Given the description of an element on the screen output the (x, y) to click on. 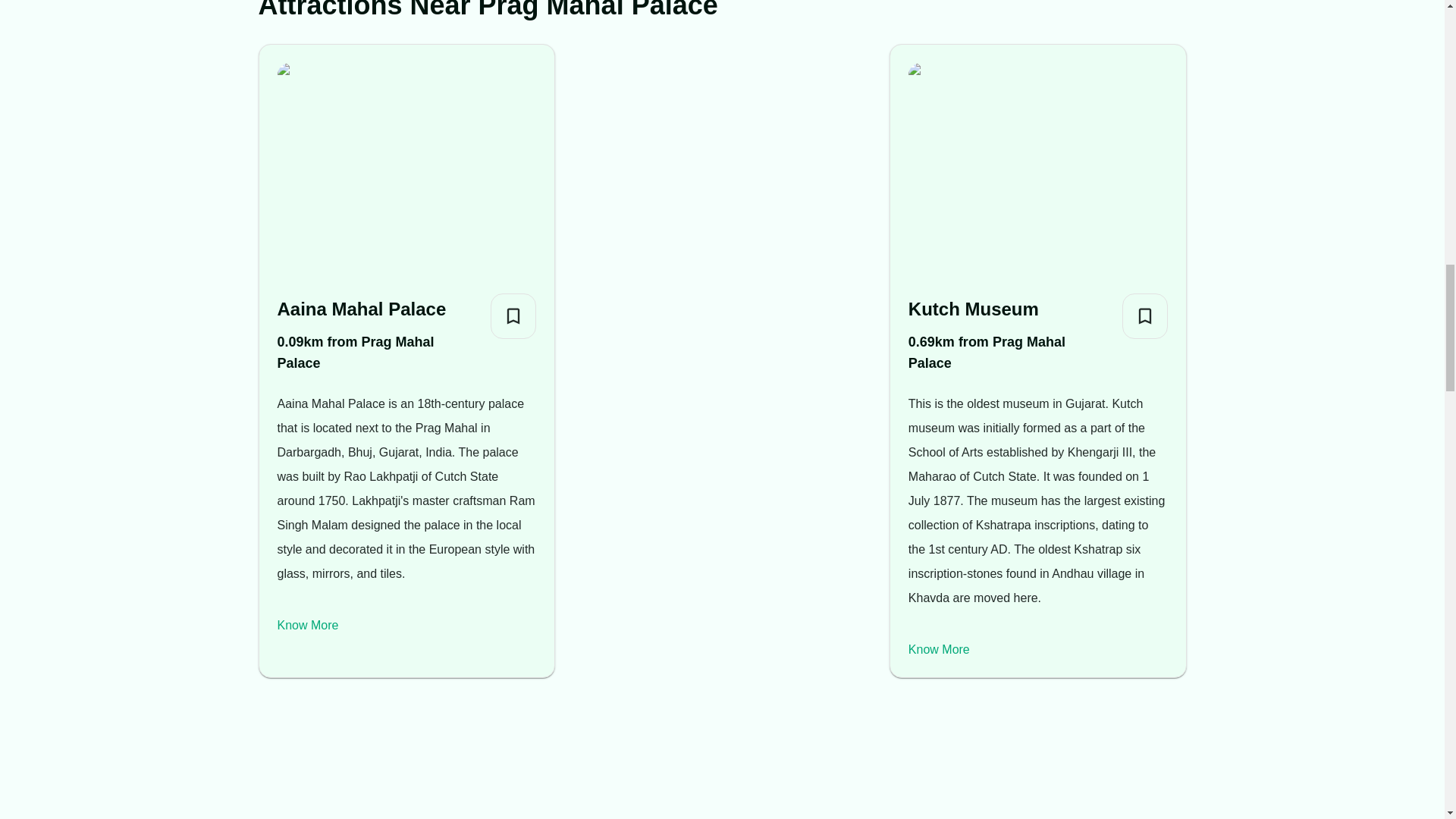
Kutch Museum (1008, 309)
Aaina Mahal Palace (378, 309)
Add to Bucket List (1144, 316)
Know More (308, 625)
Know More (938, 649)
Add to Bucket List (512, 316)
